Given the description of an element on the screen output the (x, y) to click on. 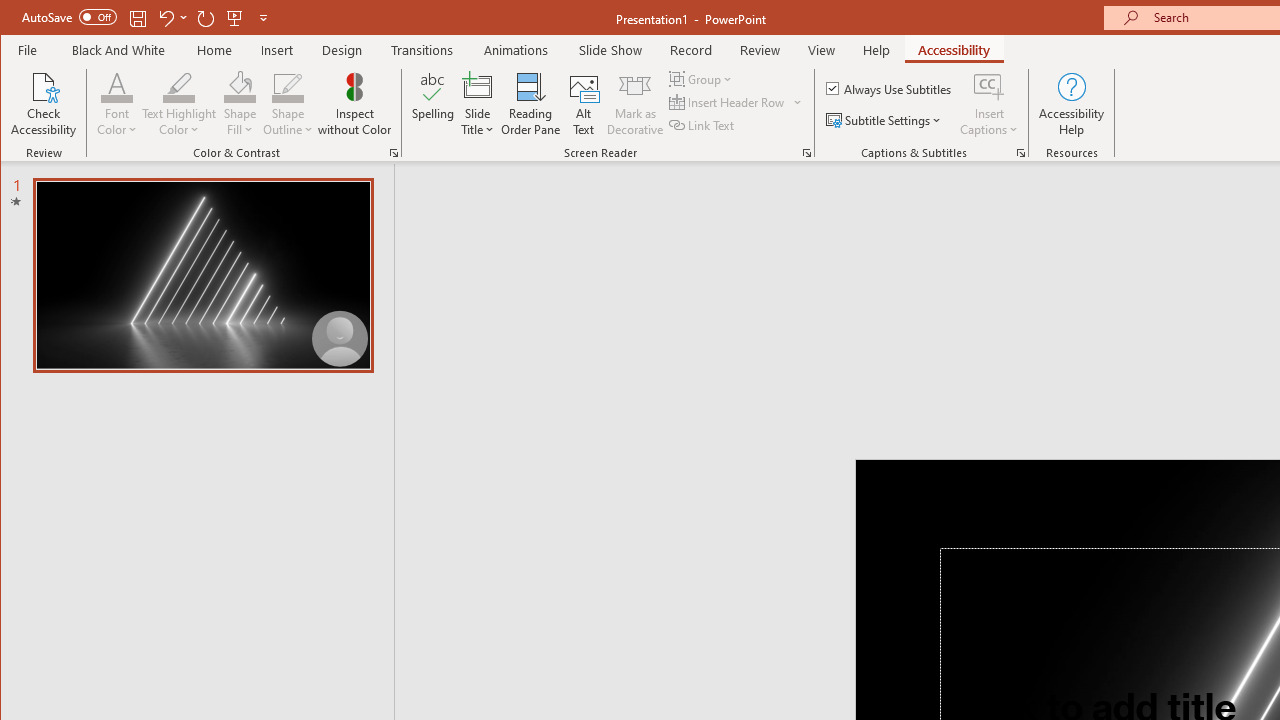
Black And White (118, 50)
Color & Contrast (393, 152)
Captions & Subtitles (1020, 152)
Inspect without Color (355, 104)
Always Use Subtitles (890, 88)
